Given the description of an element on the screen output the (x, y) to click on. 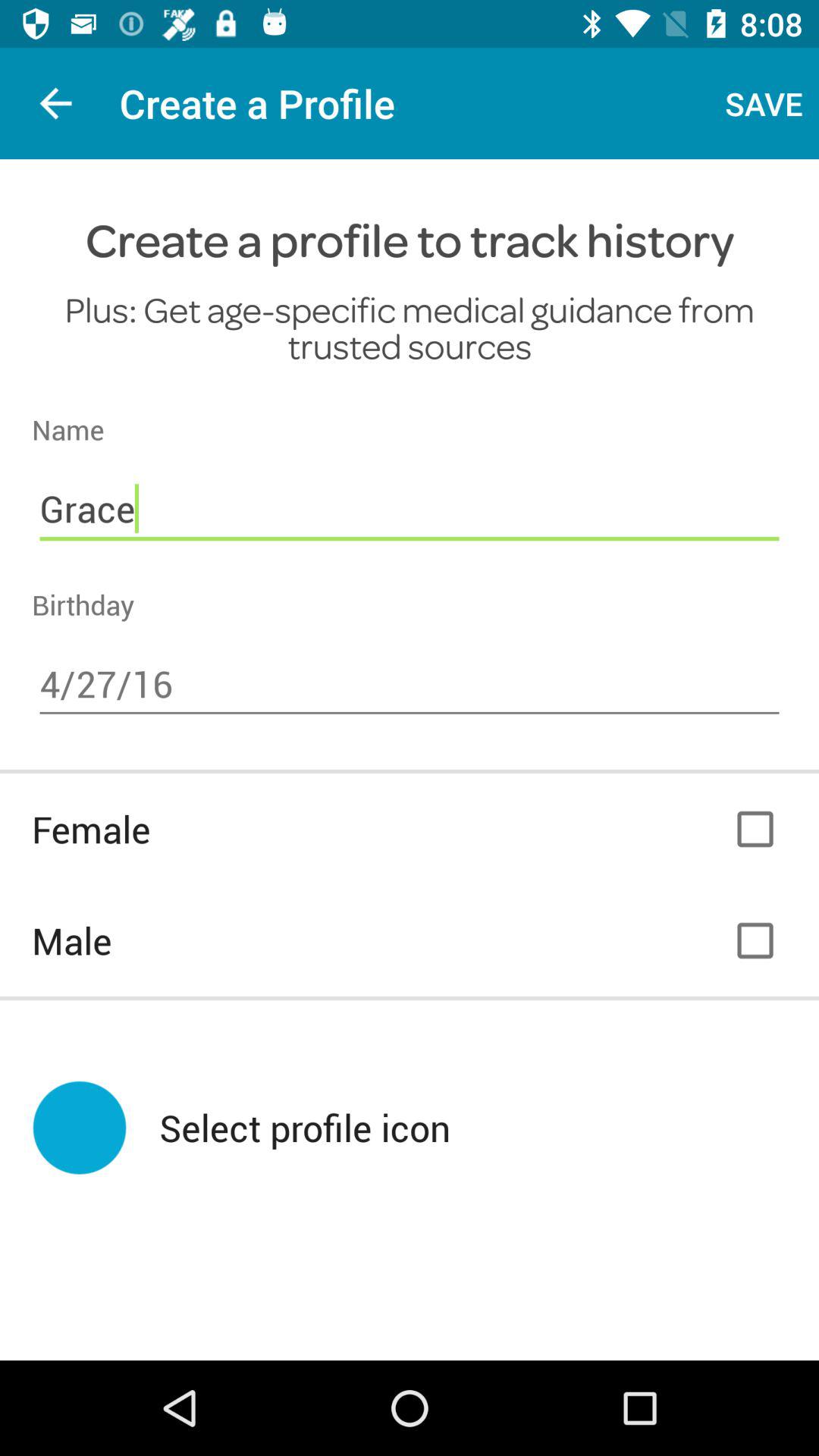
toggle male option (755, 940)
